Given the description of an element on the screen output the (x, y) to click on. 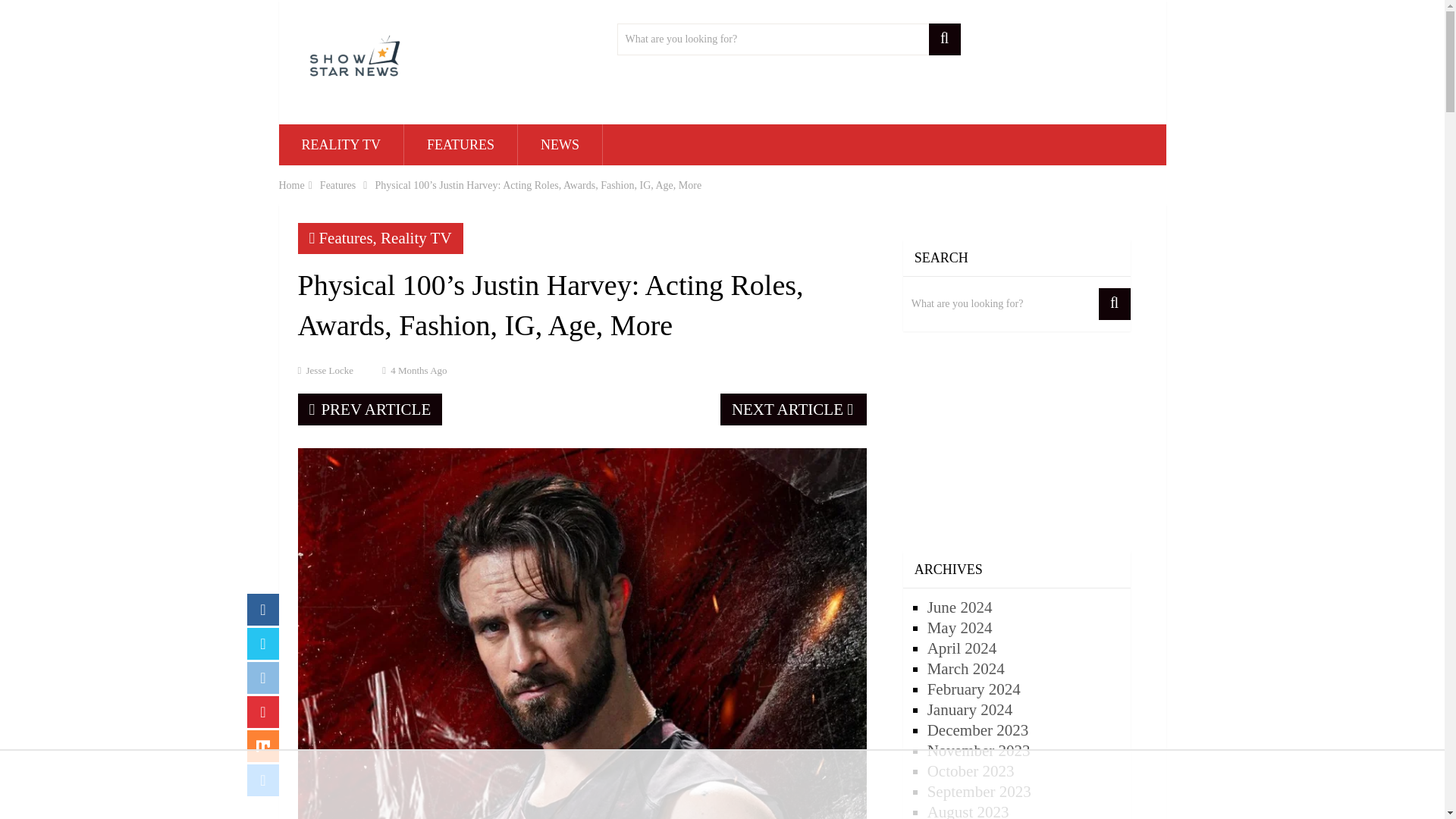
View all posts in Reality TV (415, 238)
Reality TV (415, 238)
NEXT ARTICLE (793, 409)
NEWS (560, 144)
REALITY TV (341, 144)
PREV ARTICLE (369, 409)
Features (345, 238)
Features (337, 184)
Home (291, 184)
FEATURES (460, 144)
View all posts in Features (345, 238)
Jesse Locke (329, 369)
Posts by Jesse Locke (329, 369)
